Given the description of an element on the screen output the (x, y) to click on. 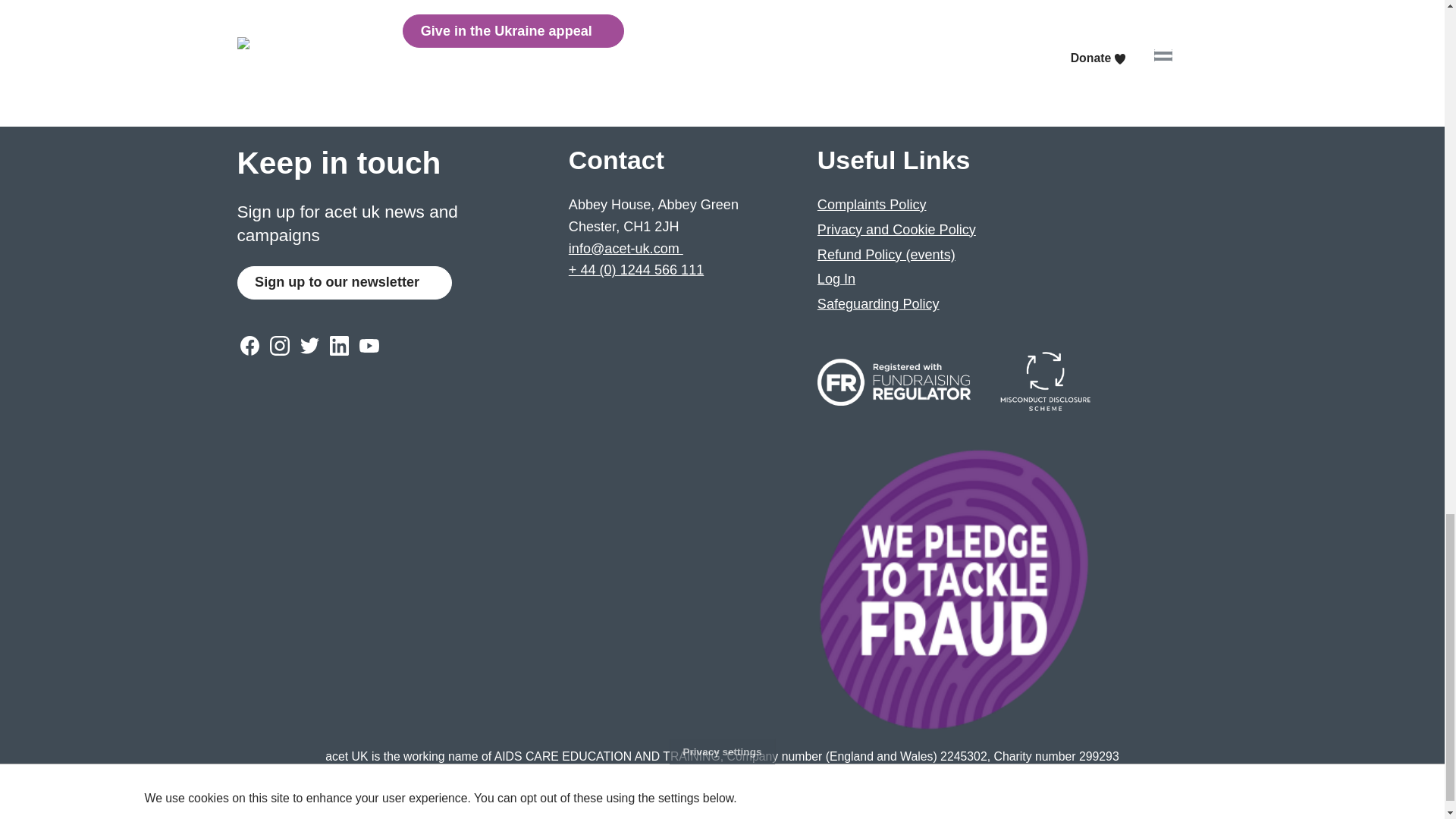
Give in the Ukraine appeal (513, 30)
Follow acet UK on LinkedIn (339, 346)
Follow acet UK on Facebook (248, 346)
Follow acet UK on Instagram (279, 346)
Subscribe to acet UK on YouTube (368, 346)
Follow acet UK on Twitter (309, 346)
